Given the description of an element on the screen output the (x, y) to click on. 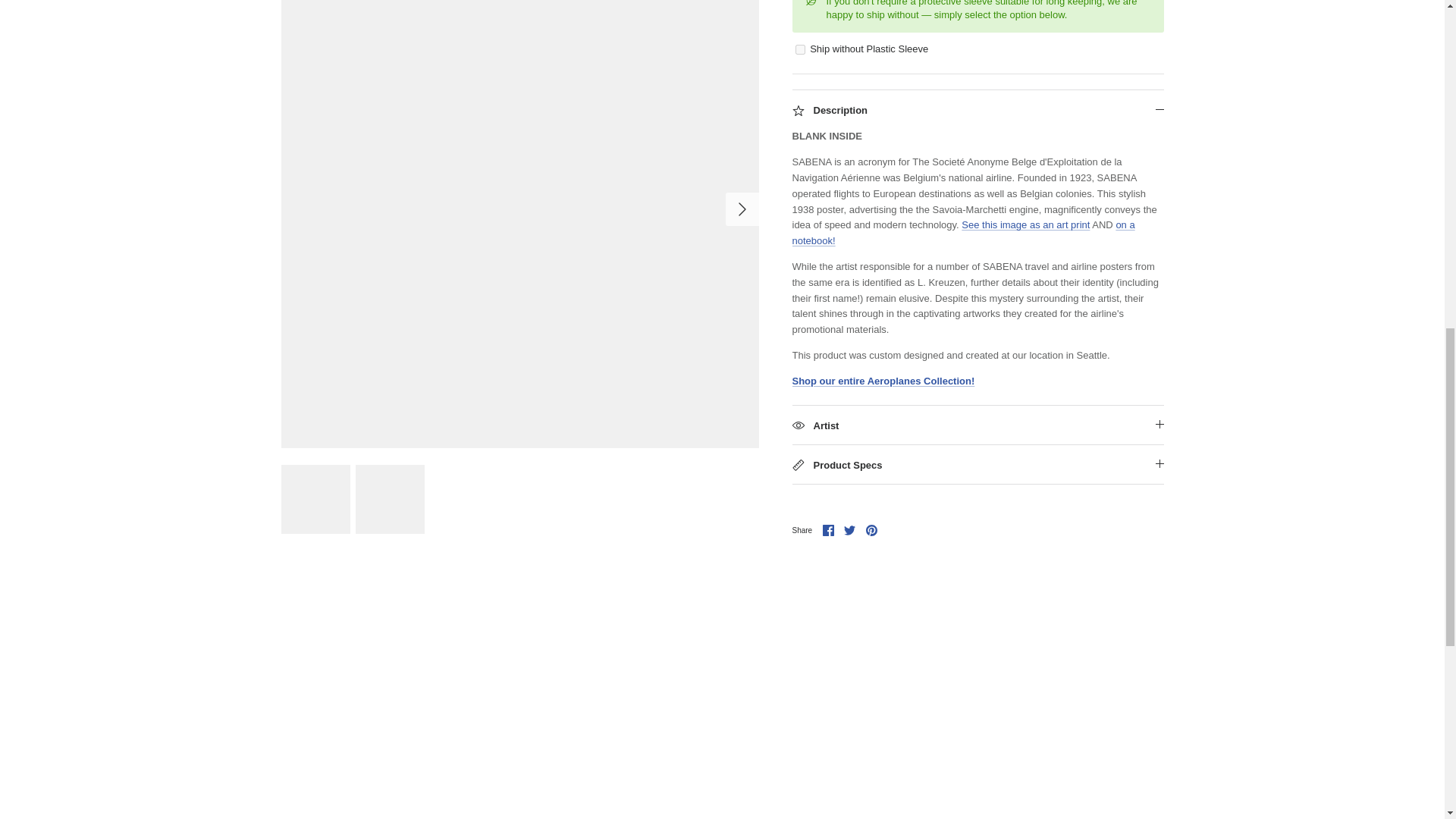
Yes (799, 40)
Facebook (828, 520)
Sabena Rapidite - Aeroplane Notebook (963, 222)
Aeroplanes Collection (883, 370)
SABENA Speed - Aeroplanes Art Print (1024, 214)
